Given the description of an element on the screen output the (x, y) to click on. 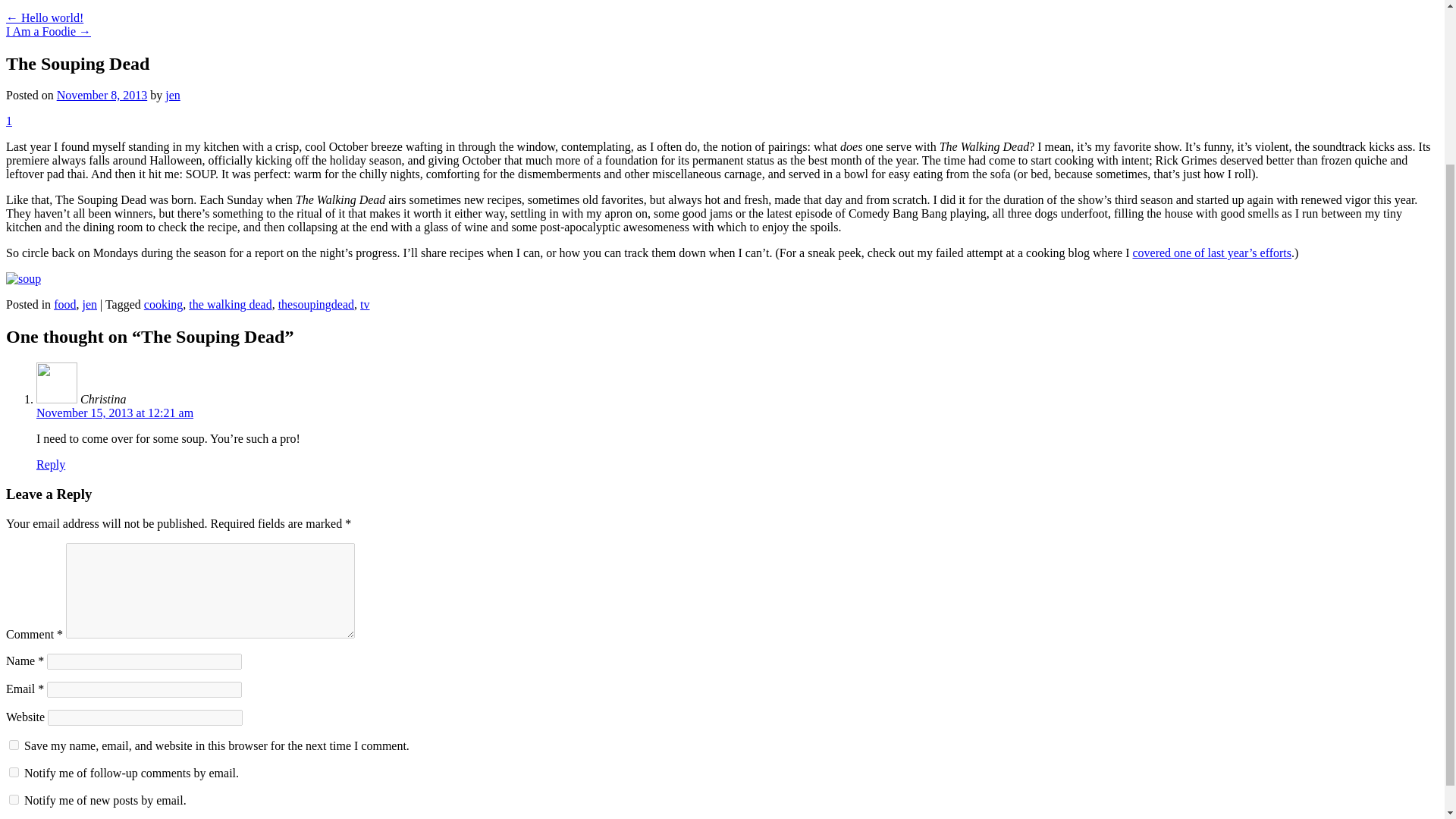
Reply (50, 463)
jen (172, 94)
subscribe (13, 799)
thesoupingdead (315, 304)
6:58 pm (102, 94)
food (64, 304)
November 8, 2013 (102, 94)
November 15, 2013 at 12:21 am (114, 412)
jen (89, 304)
View all posts by jen (172, 94)
the walking dead (229, 304)
cooking (163, 304)
yes (13, 745)
subscribe (13, 772)
